Given the description of an element on the screen output the (x, y) to click on. 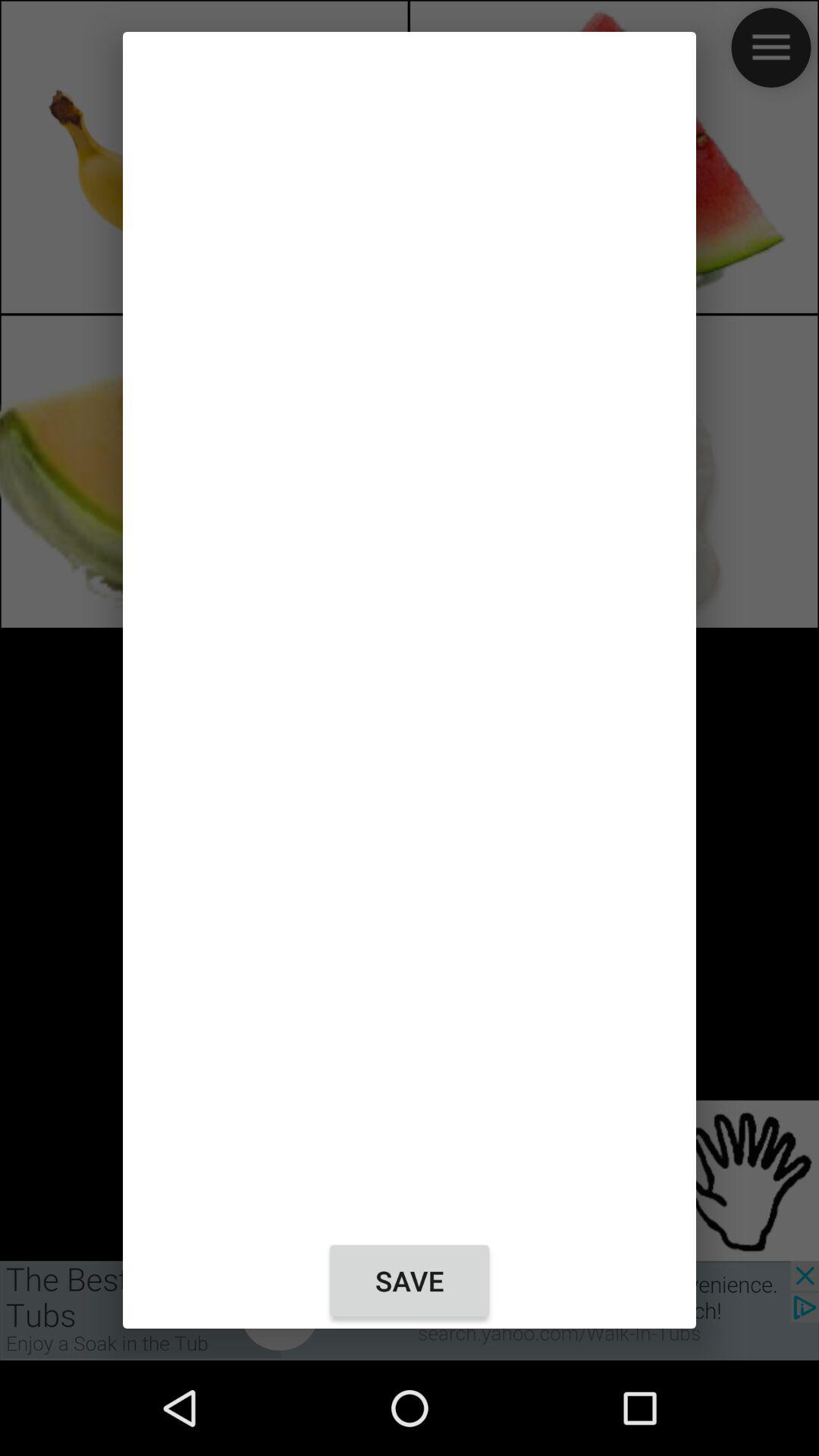
select item at the center (409, 632)
